Given the description of an element on the screen output the (x, y) to click on. 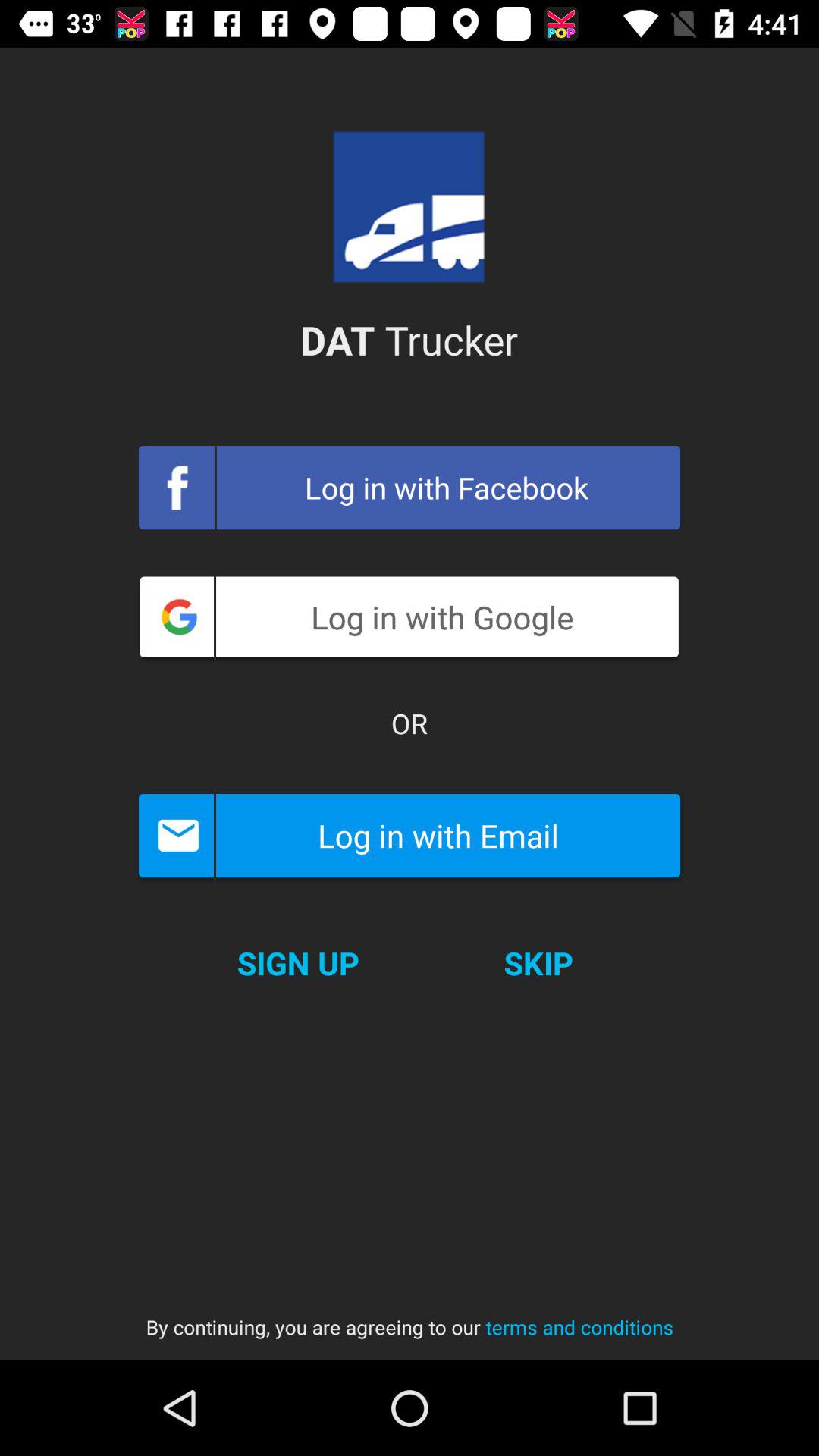
click item to the right of sign up icon (538, 962)
